Given the description of an element on the screen output the (x, y) to click on. 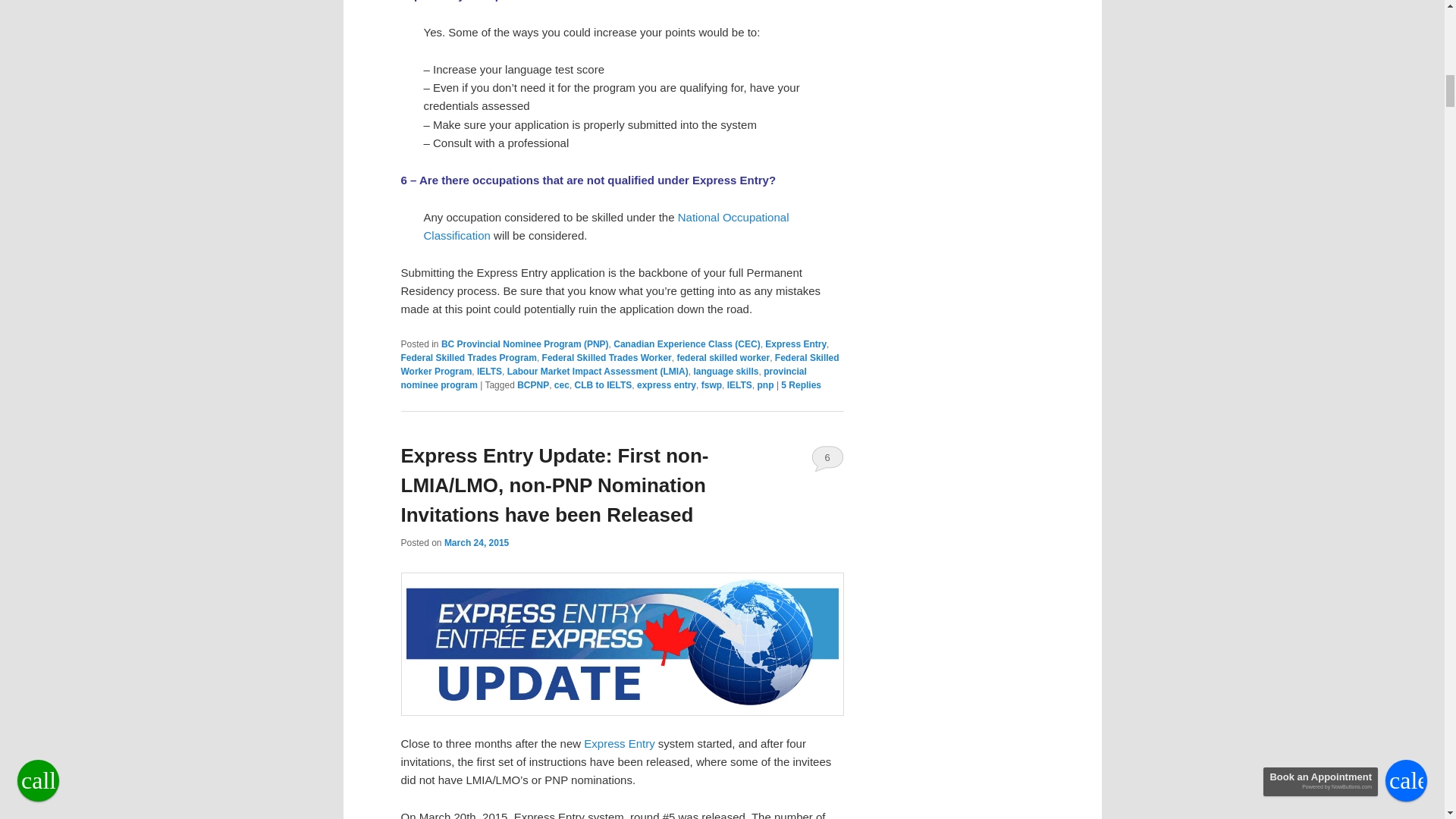
Express Entry (618, 743)
National Occupational Classification (606, 225)
Express Entry (796, 344)
1:12 am (476, 542)
